Given the description of an element on the screen output the (x, y) to click on. 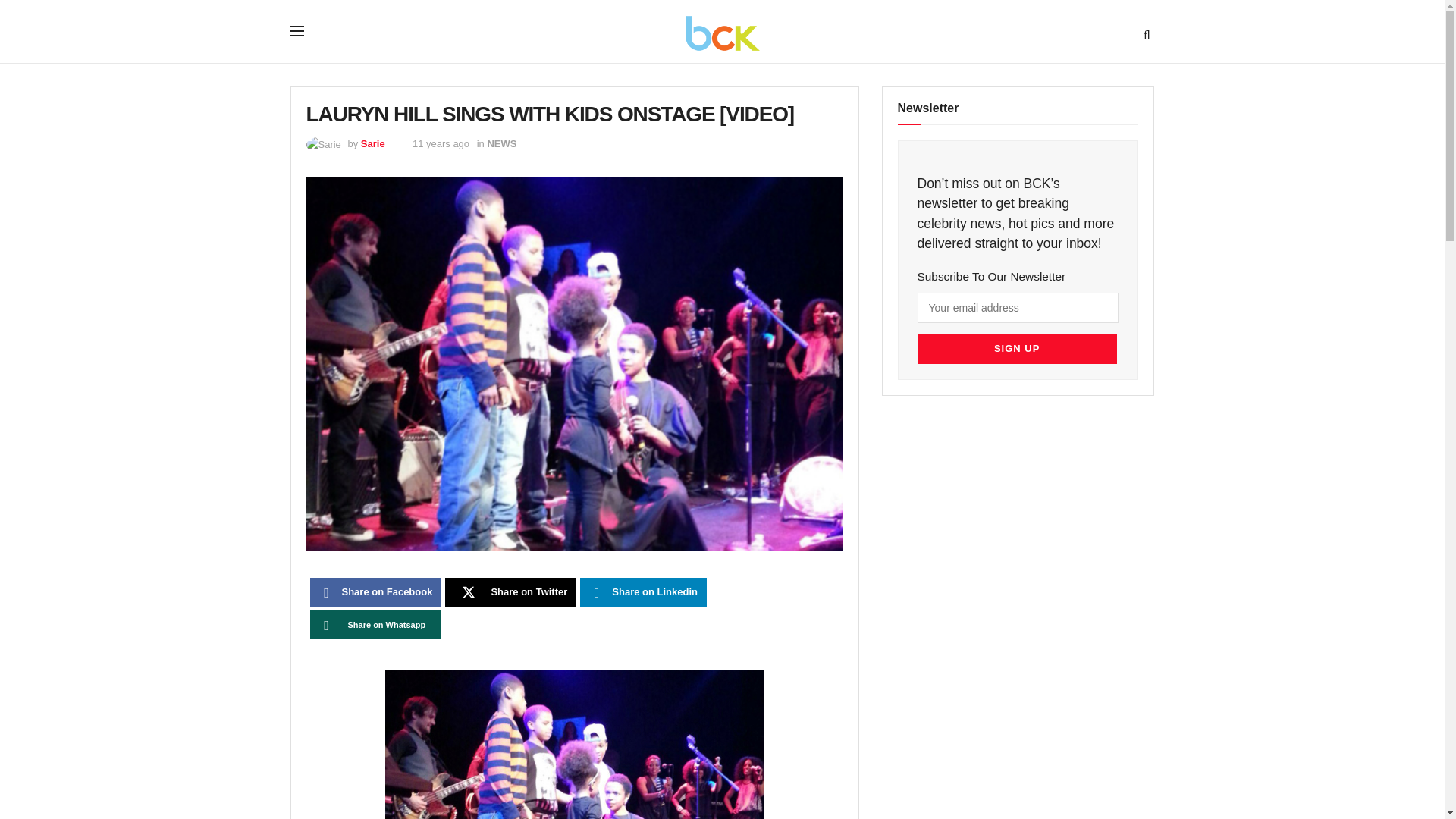
Share on Facebook (374, 592)
Share on Twitter (510, 592)
11 years ago (440, 143)
Sign up (1016, 348)
Share on Linkedin (642, 592)
Sarie (373, 143)
NEWS (501, 143)
Share on Whatsapp (374, 624)
